Given the description of an element on the screen output the (x, y) to click on. 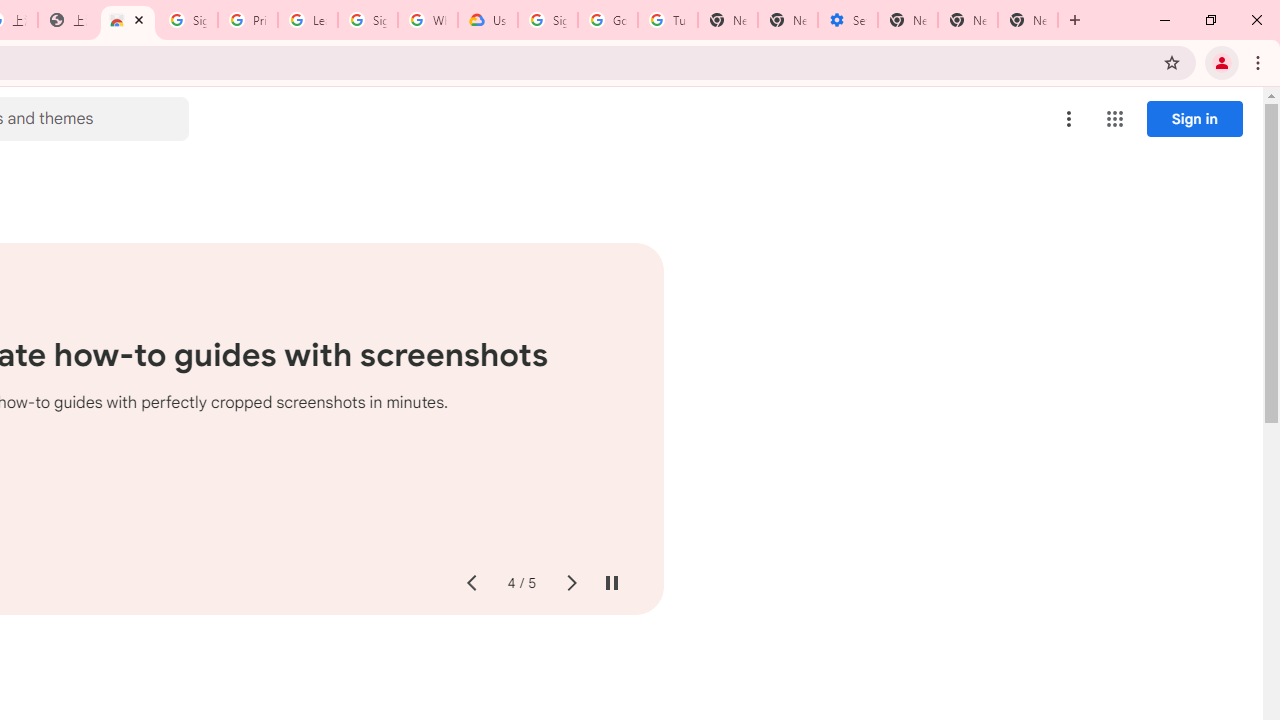
Next slide (570, 583)
Google Account Help (607, 20)
Turn cookies on or off - Computer - Google Account Help (667, 20)
Sign in - Google Accounts (187, 20)
Chrome Web Store (127, 20)
Pause auto-play (611, 583)
More options menu (1069, 118)
